Given the description of an element on the screen output the (x, y) to click on. 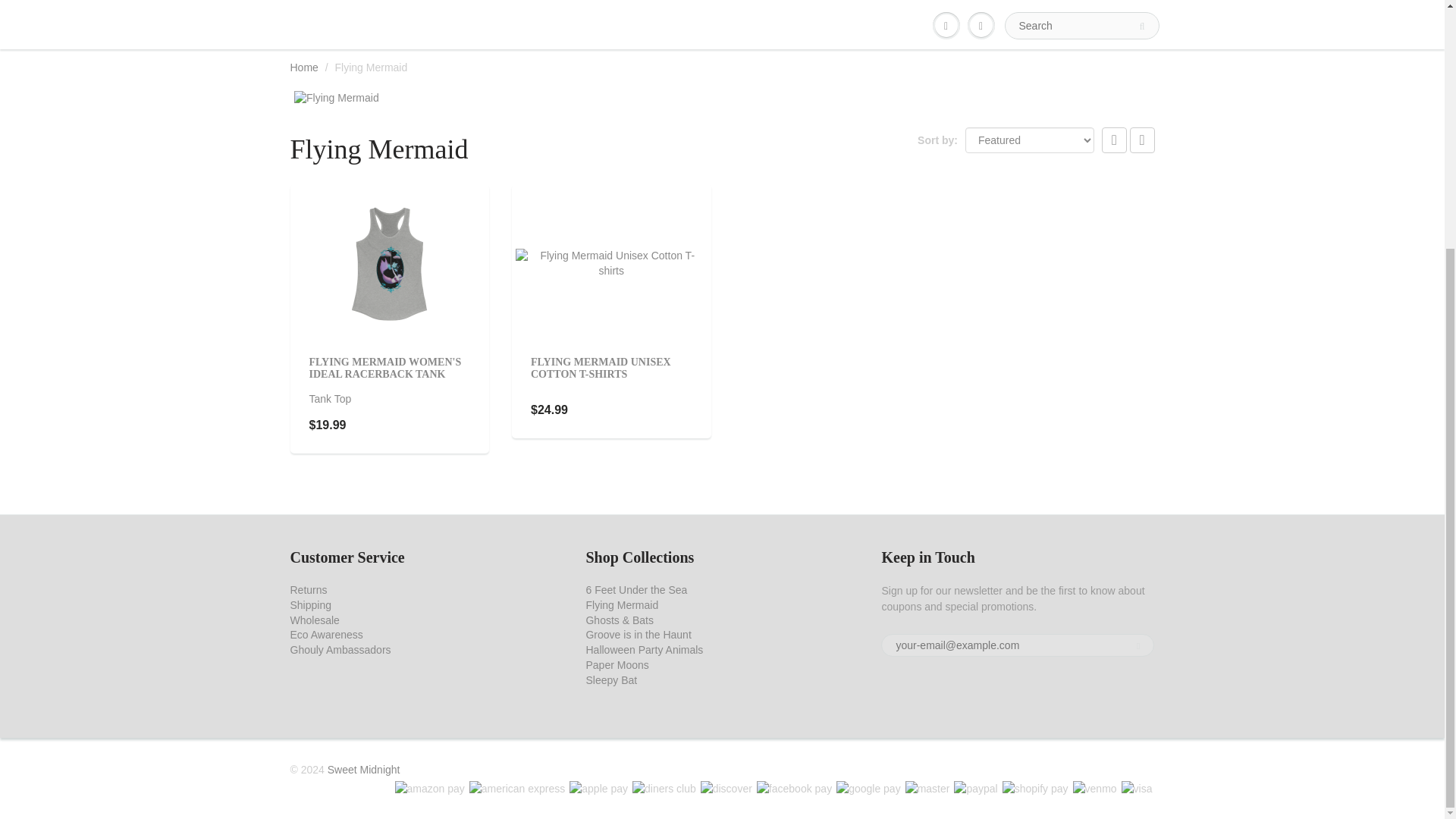
BAGS (573, 1)
OUR COFFIN (944, 1)
Grid view (1114, 140)
HOBO MEMORIAL SALE (364, 1)
ACCESSORIES (492, 1)
Home (303, 67)
List View (1141, 140)
SALE (869, 1)
Home (303, 67)
FREE FUN (722, 1)
CLOTHES (641, 1)
VISIT US (1027, 1)
FOOTWEAR (802, 1)
